Given the description of an element on the screen output the (x, y) to click on. 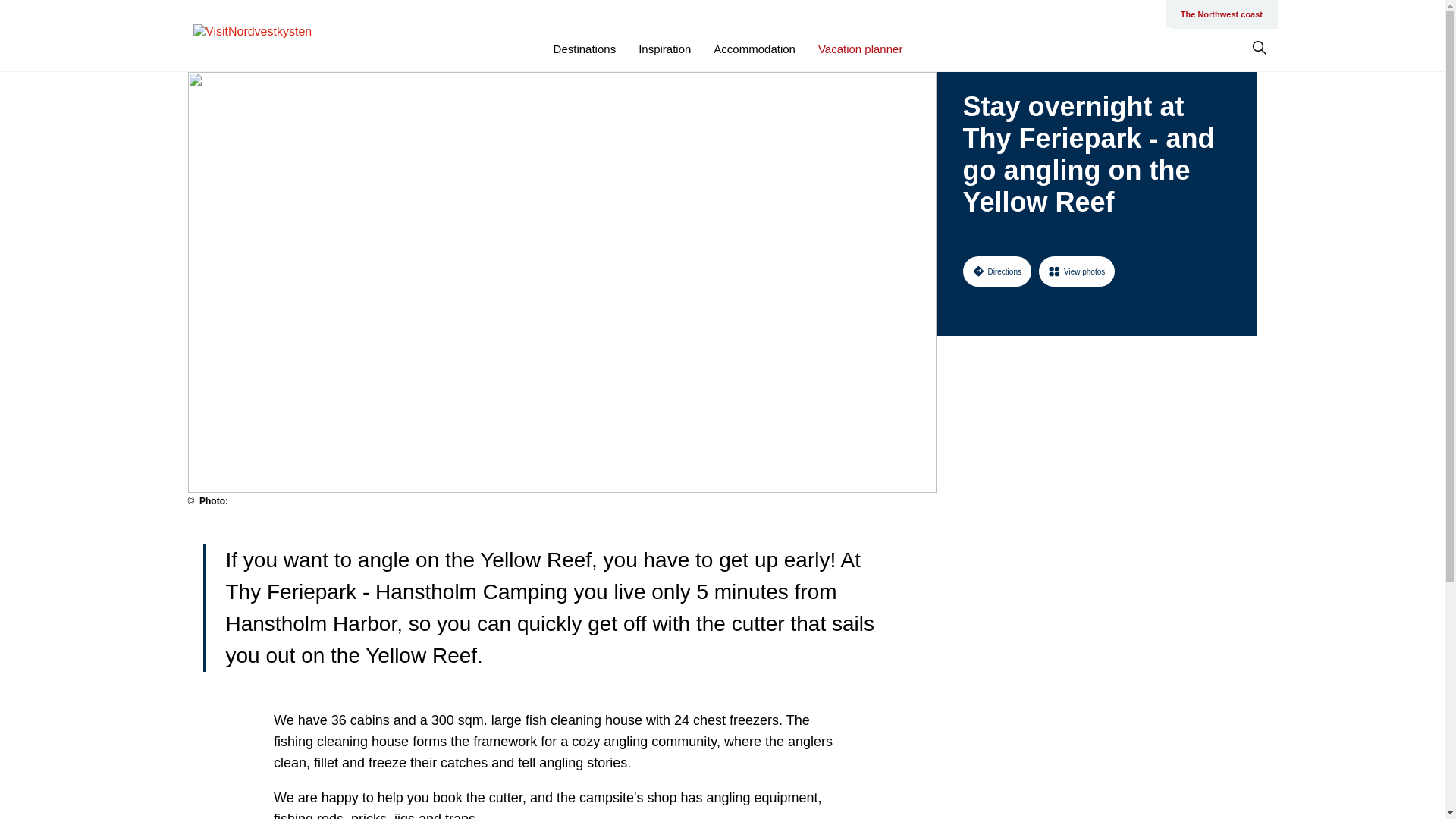
Go to homepage (253, 35)
The Northwest coast (1221, 14)
View photos (1077, 271)
Vacation planner (860, 48)
Inspiration (664, 48)
Accommodation (753, 48)
Destinations (584, 48)
Directions (996, 271)
